Given the description of an element on the screen output the (x, y) to click on. 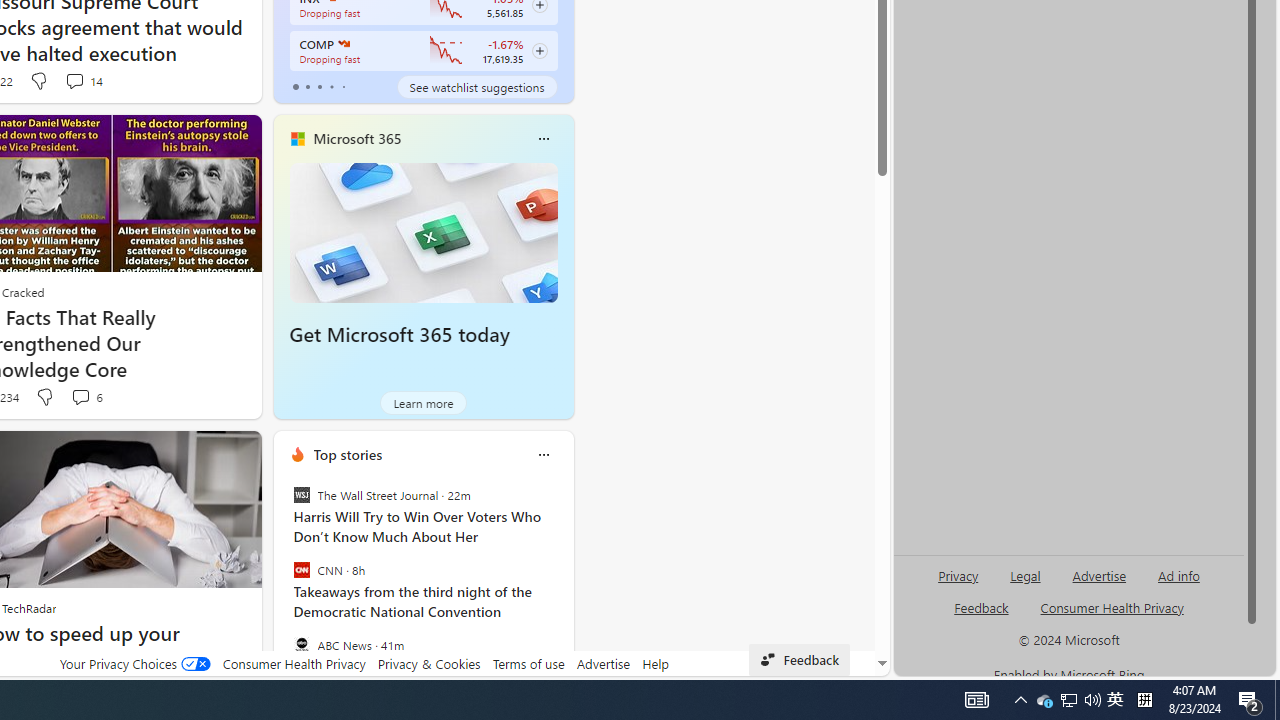
CNN (301, 570)
Hide this story (201, 454)
Get Microsoft 365 today (399, 335)
previous (283, 583)
NASDAQ (342, 43)
tab-0 (295, 86)
View comments 6 Comment (86, 397)
ABC News (301, 644)
next (563, 583)
See watchlist suggestions (476, 86)
